Given the description of an element on the screen output the (x, y) to click on. 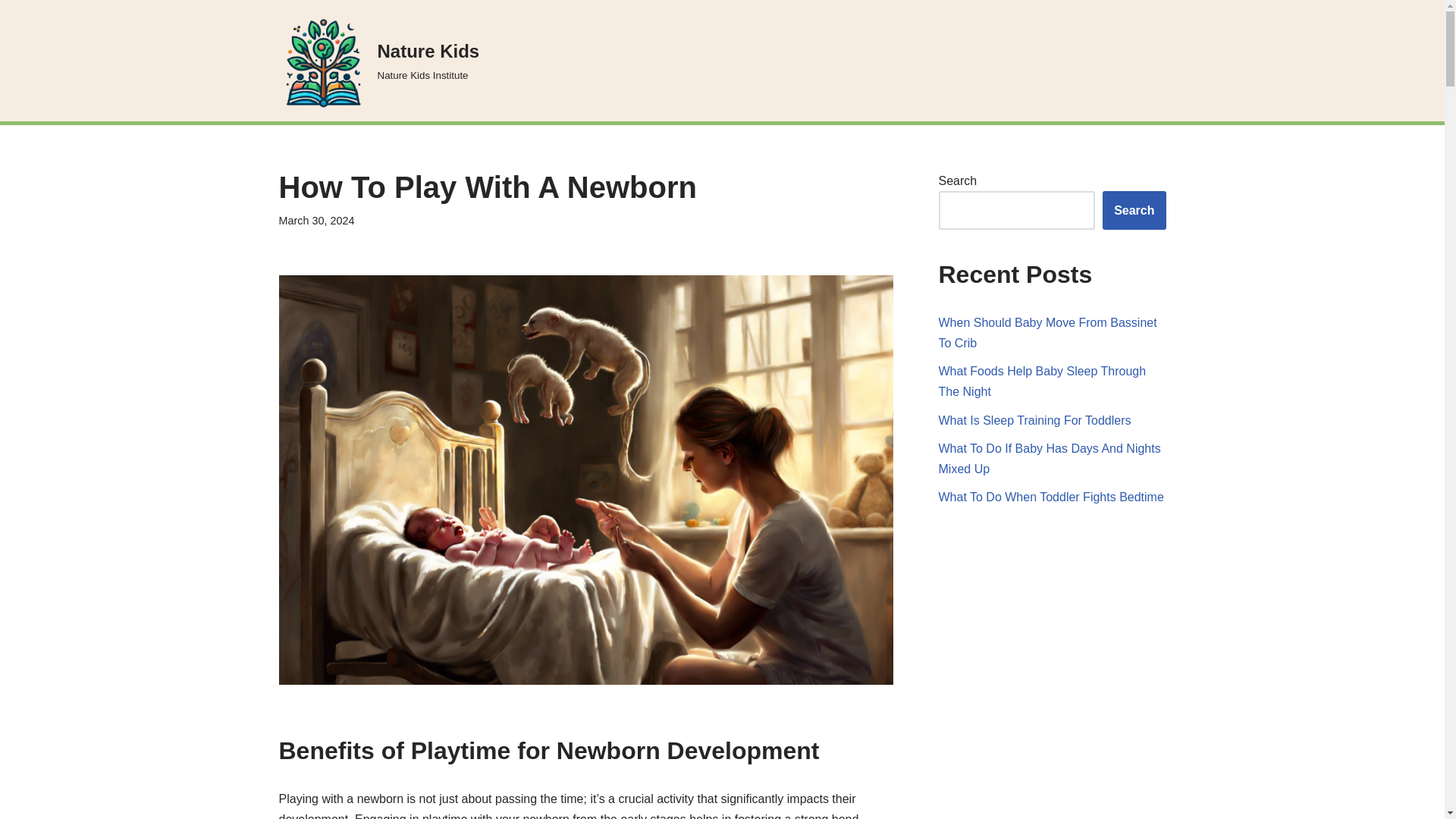
What Is Sleep Training For Toddlers (1035, 420)
What Foods Help Baby Sleep Through The Night (1043, 381)
Search (1134, 210)
What To Do If Baby Has Days And Nights Mixed Up (1049, 458)
When Should Baby Move From Bassinet To Crib (379, 60)
Skip to content (1048, 332)
What To Do When Toddler Fights Bedtime (11, 31)
